Given the description of an element on the screen output the (x, y) to click on. 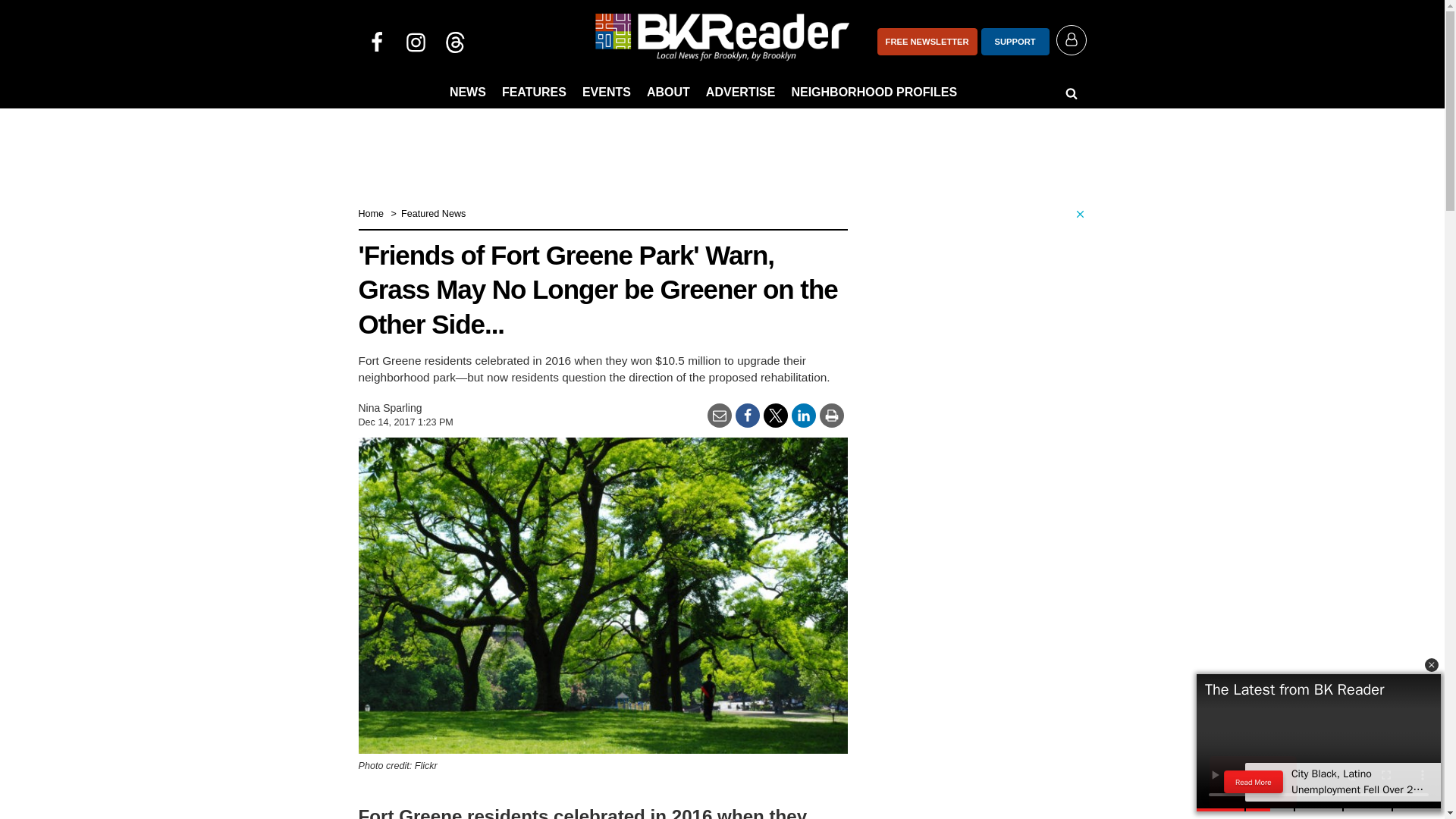
Facebook (376, 41)
SUPPORT (1015, 41)
ABOUT (667, 92)
NEWS (468, 92)
3rd party ad content (972, 723)
Threads (454, 41)
EVENTS (606, 92)
Instagram (415, 41)
FREE NEWSLETTER (926, 41)
